Given the description of an element on the screen output the (x, y) to click on. 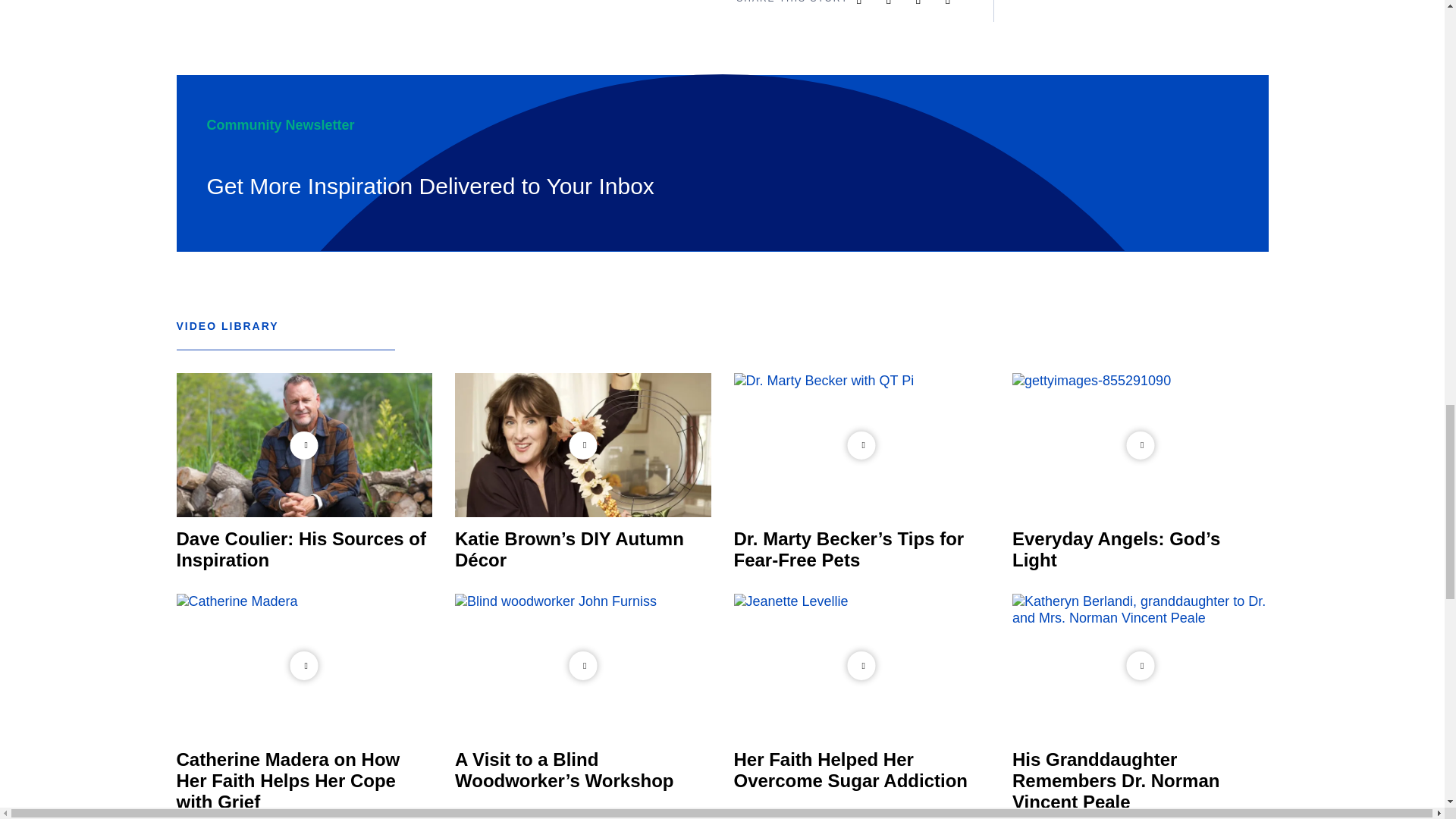
Email (869, 2)
Facebook (957, 2)
Pinterest (927, 2)
Twitter (898, 2)
